Given the description of an element on the screen output the (x, y) to click on. 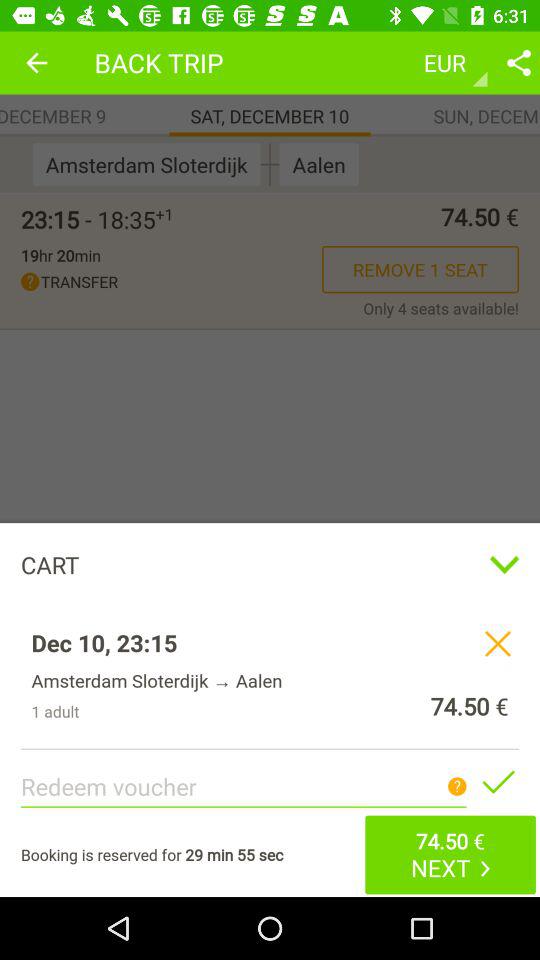
choose the item to the right of amsterdam sloterdijk icon (269, 164)
